Given the description of an element on the screen output the (x, y) to click on. 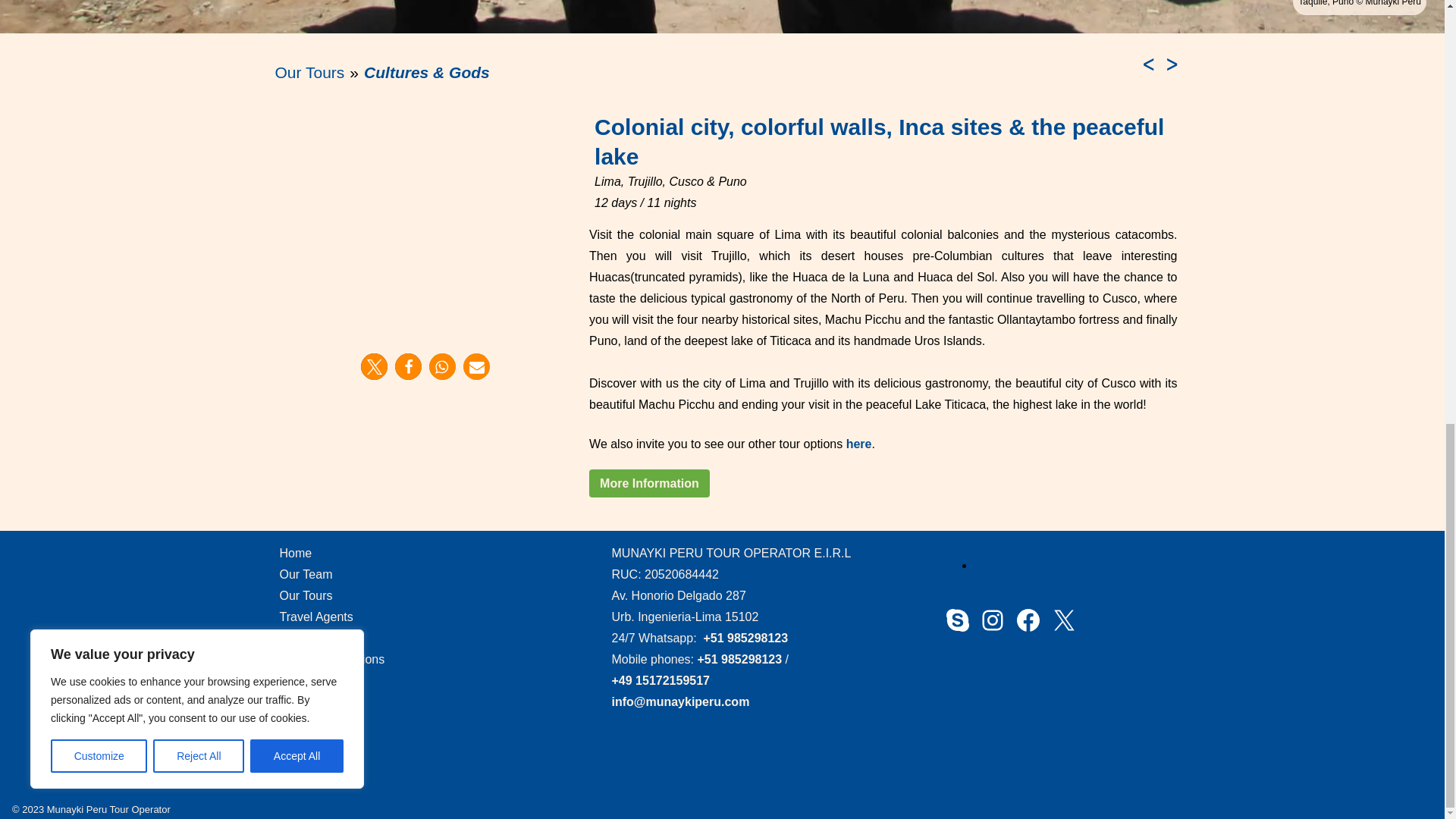
Share on Facebook (408, 366)
Share on X (374, 366)
Our Tours (309, 72)
Share on Whatsapp (442, 366)
Send by email (476, 366)
